Given the description of an element on the screen output the (x, y) to click on. 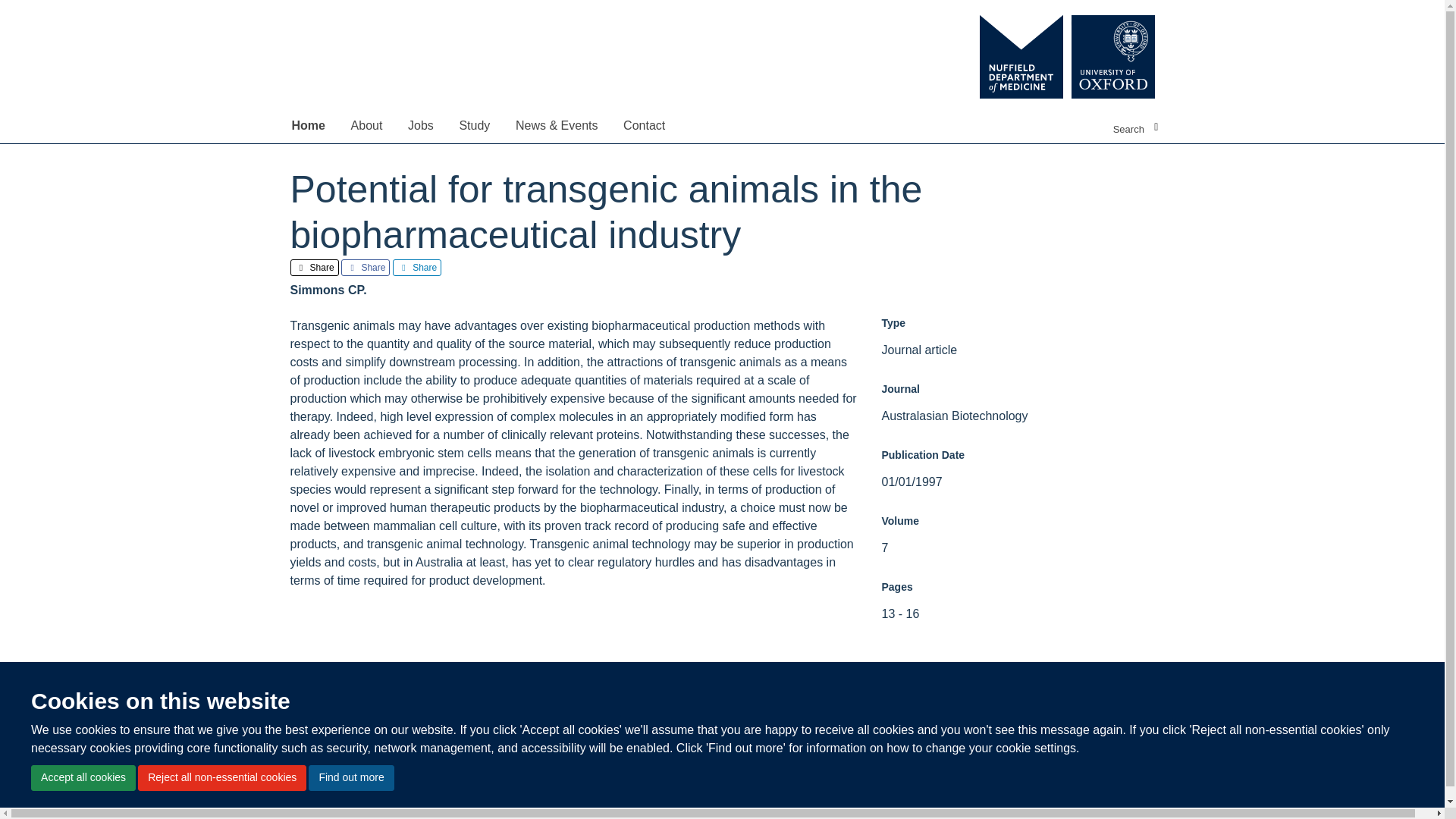
Accept all cookies (82, 777)
Find out more (350, 777)
Reject all non-essential cookies (221, 777)
